Given the description of an element on the screen output the (x, y) to click on. 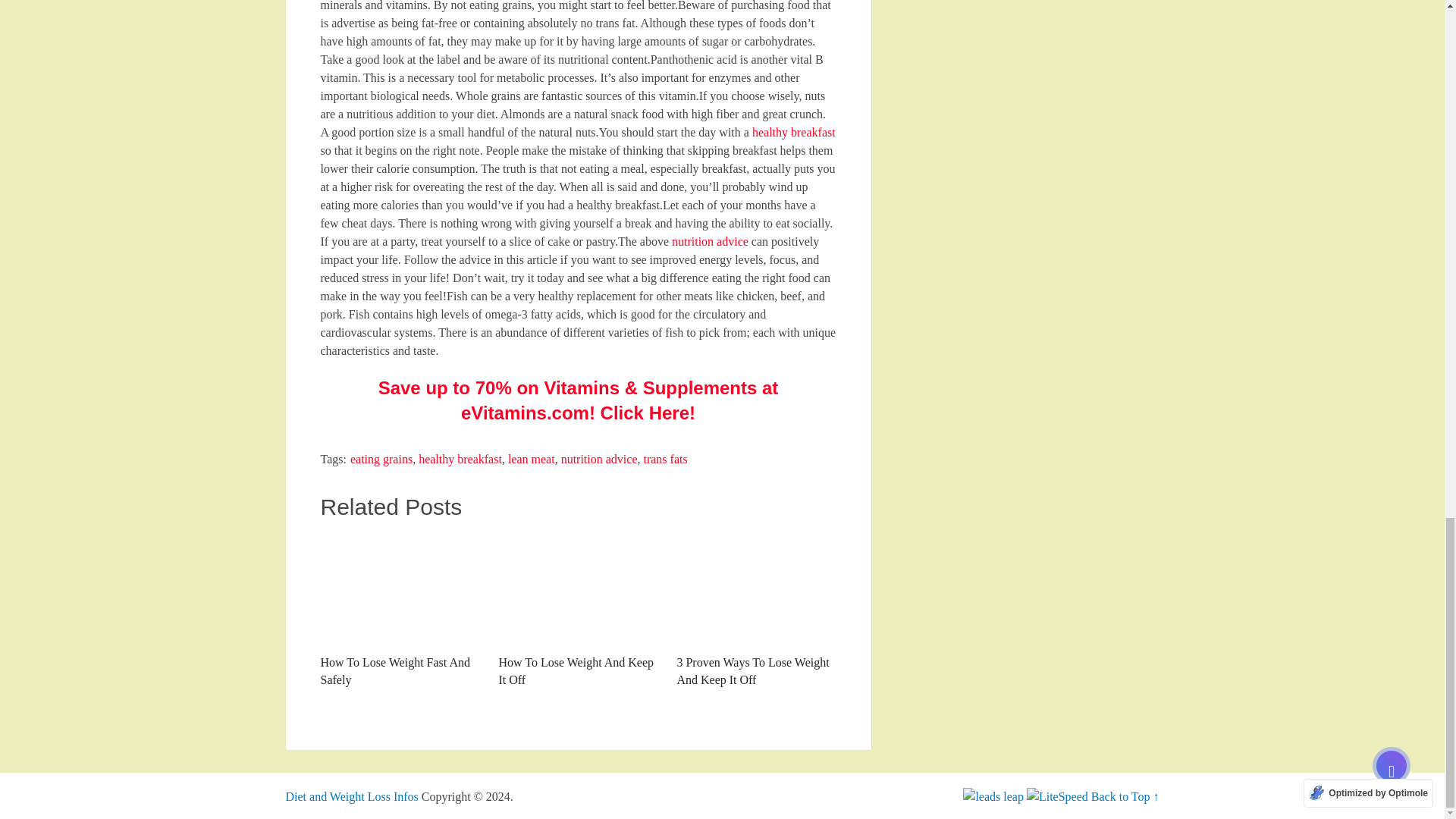
How To Lose Weight And Keep It Off (577, 589)
3 Proven Ways To Lose Weight And Keep It Off (756, 610)
How To Lose Weight And Keep It Off (577, 610)
healthy breakfast (793, 132)
How To Lose Weight And Keep It Off (577, 610)
eating grains (381, 459)
lean meat (531, 459)
nutrition advice (598, 459)
How To Lose Weight Fast And Safely (399, 610)
How To Lose Weight Fast And Safely (399, 610)
